Given the description of an element on the screen output the (x, y) to click on. 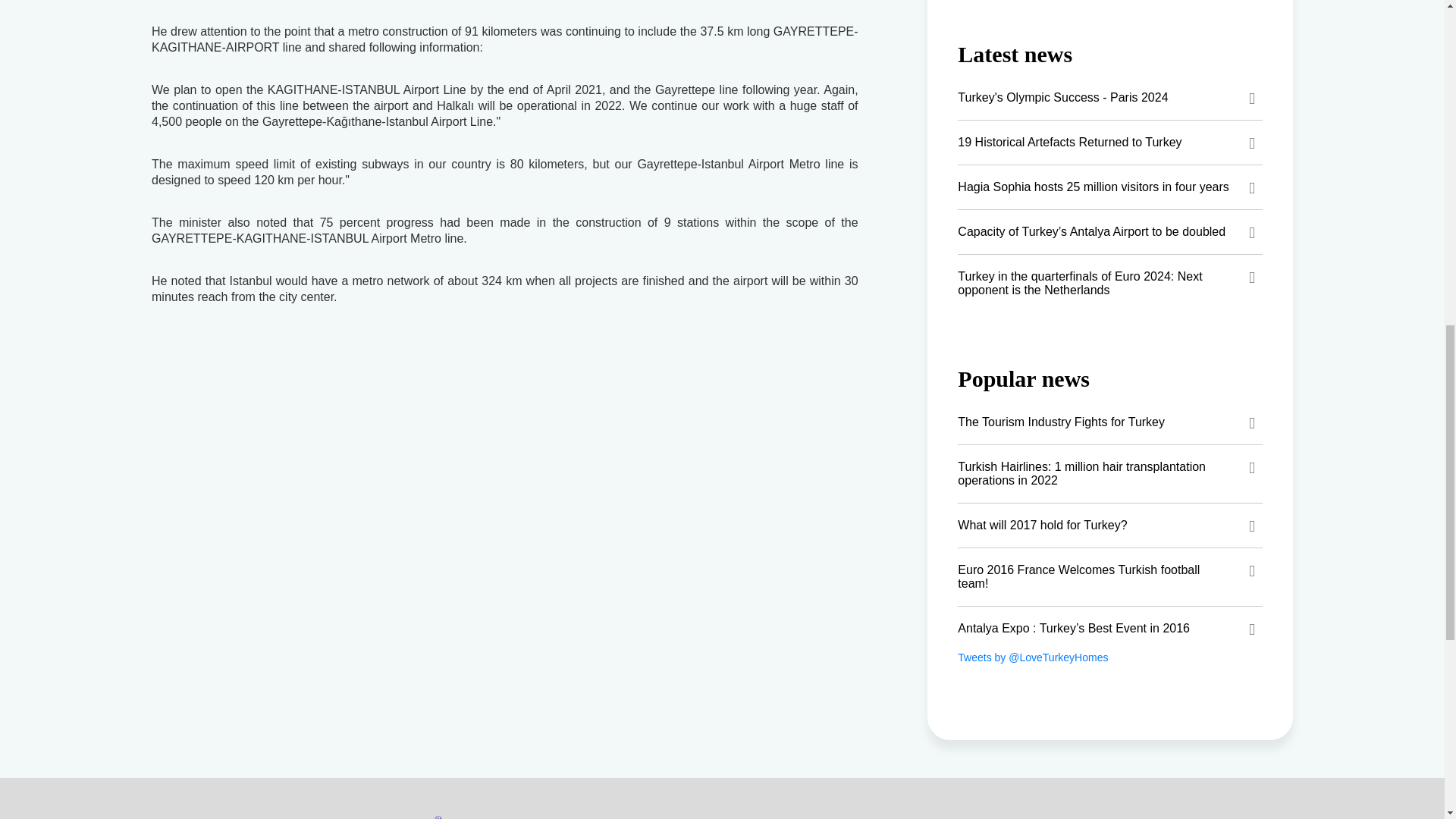
antalya-expo-turkey-s-best-event-in-2016 (1110, 628)
euro-2016-france-welcomes-turkish-football-team (1110, 576)
the-tourism-industry-fights-for-turkey (1110, 422)
turkey-s-olympic-success-paris-2024 (1110, 97)
turkey-in-2017 (1110, 525)
hagia-sophia-hosts-25-million-visitors-in-four-years (1110, 187)
19-historical-artefacts-returned-to-turkey (1110, 142)
capacity-of-turkey-s-antalya-airport-to-be-doubled (1110, 231)
